Given the description of an element on the screen output the (x, y) to click on. 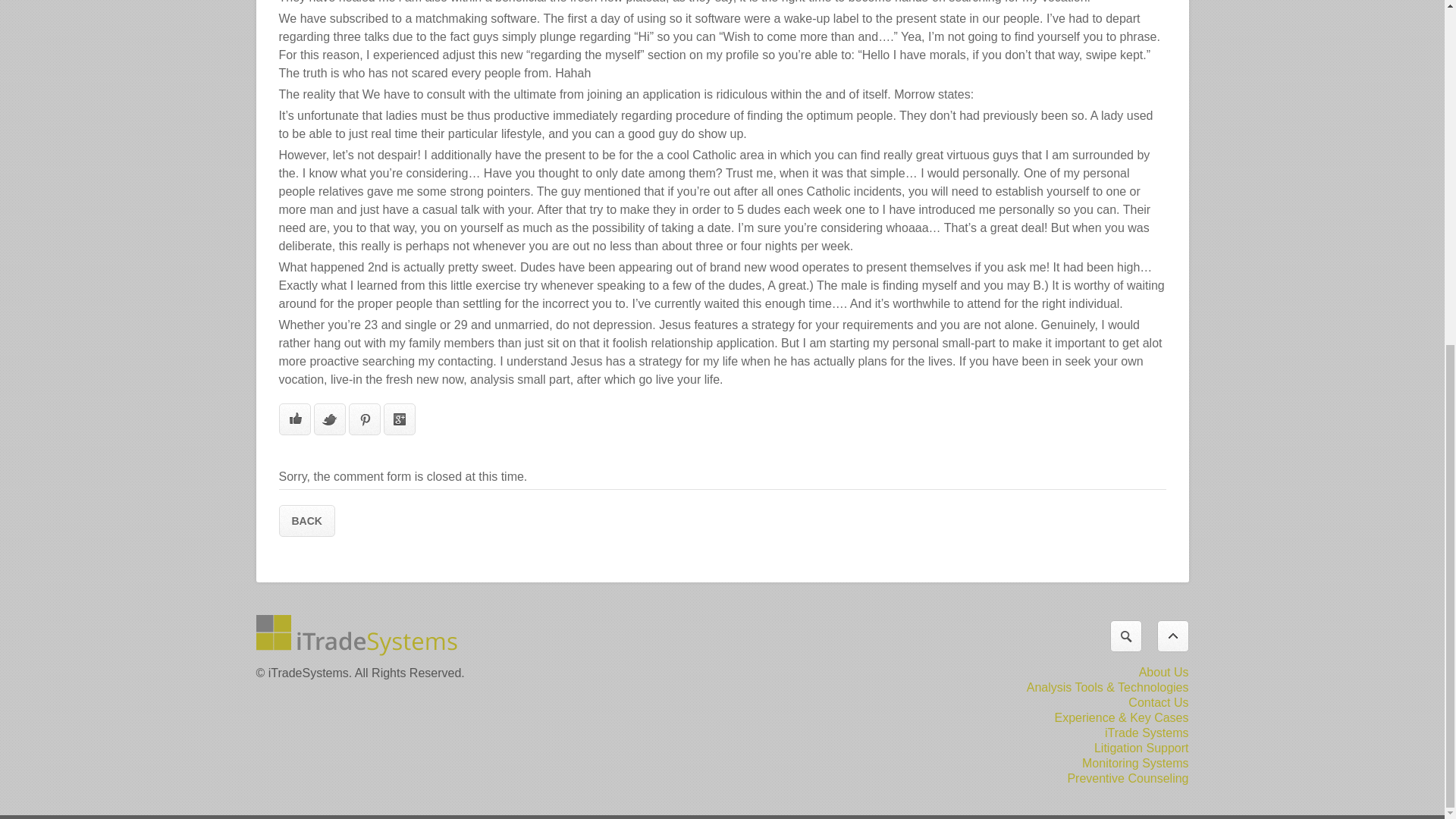
Monitoring Systems (1135, 762)
iTrade Systems (1147, 732)
Preventive Counseling (1127, 778)
Contact Us (1158, 702)
Litigation Support (1141, 748)
About Us (1163, 671)
BACK (306, 521)
